Given the description of an element on the screen output the (x, y) to click on. 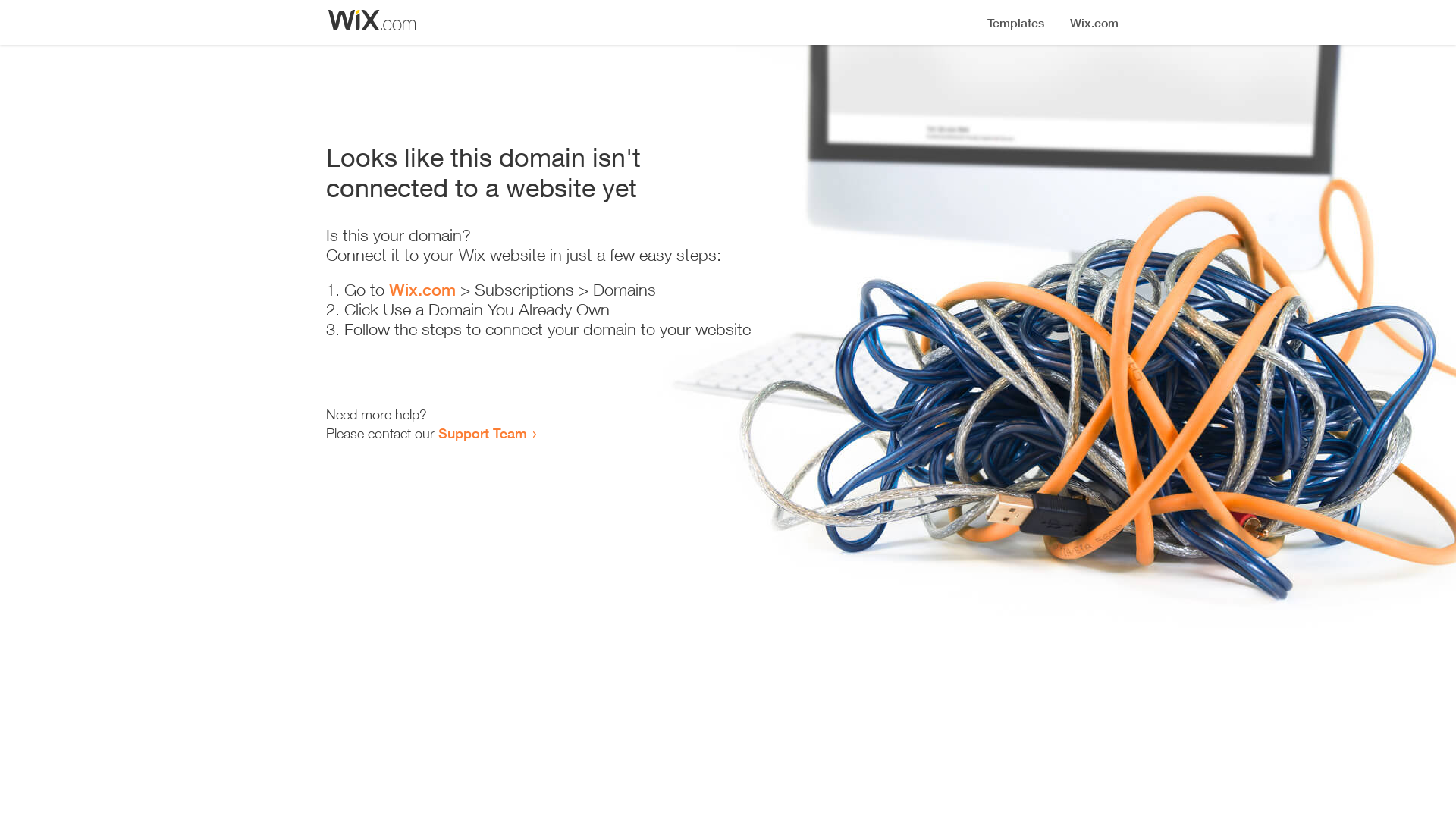
Wix.com Element type: text (422, 289)
Support Team Element type: text (482, 432)
